Given the description of an element on the screen output the (x, y) to click on. 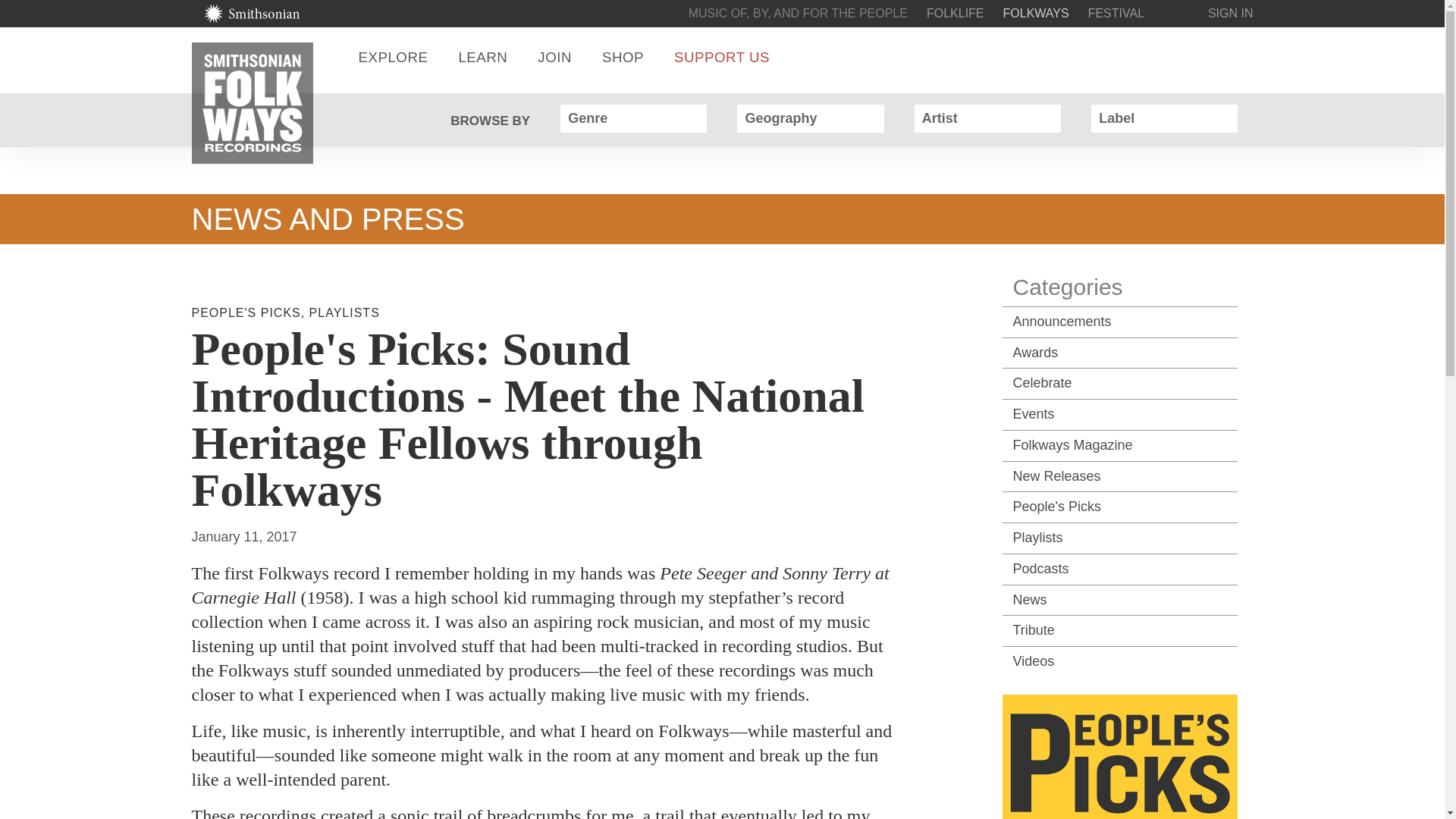
SUPPORT US (722, 57)
SIGN IN (1230, 12)
Browse by Genre (689, 117)
share (1198, 56)
search (1152, 56)
share (1198, 57)
EXPLORE (393, 57)
SHOP (622, 57)
JOIN (554, 57)
Browse by Geography (867, 117)
